Given the description of an element on the screen output the (x, y) to click on. 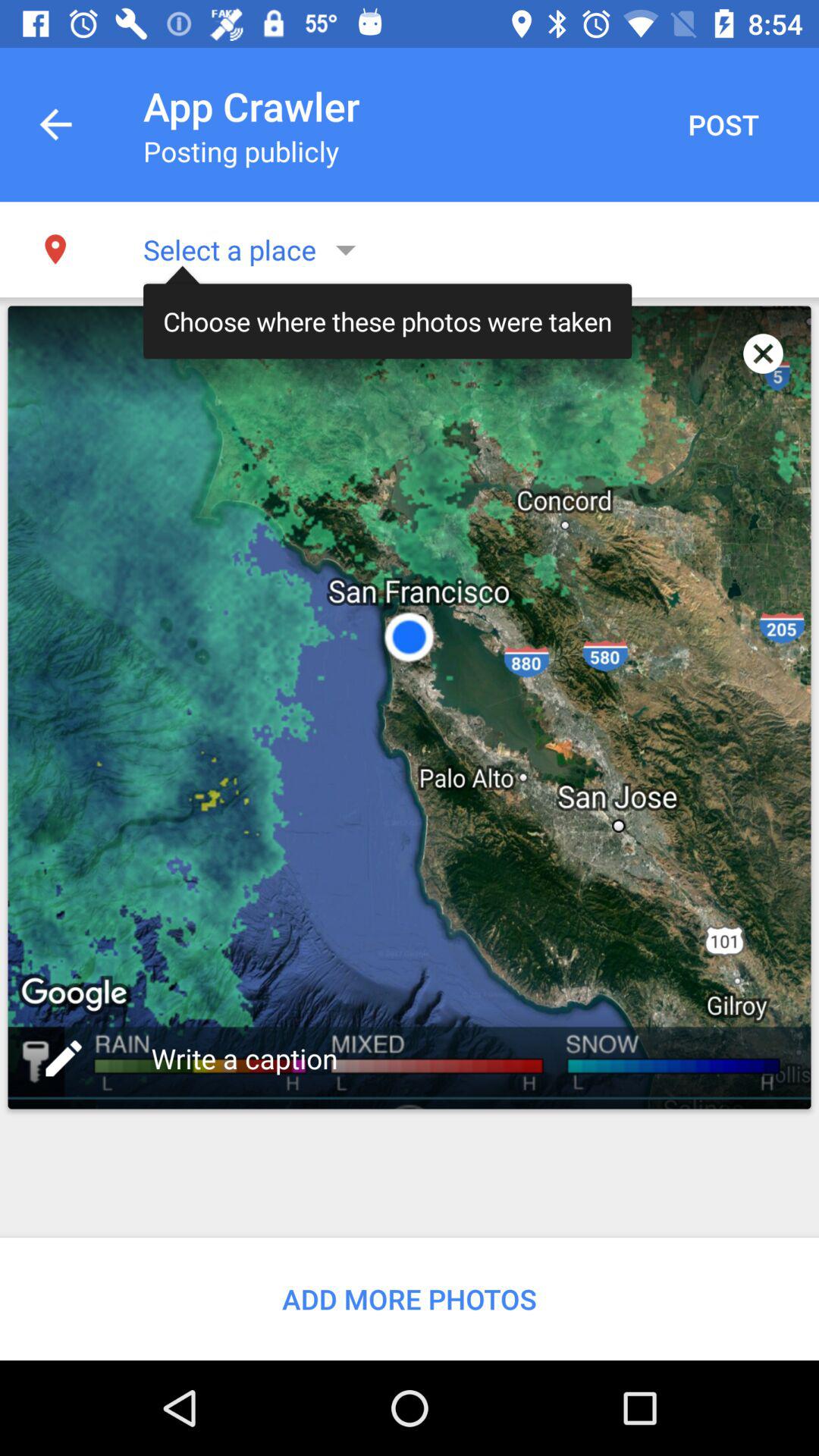
choose icon to the left of the app crawler item (55, 124)
